Given the description of an element on the screen output the (x, y) to click on. 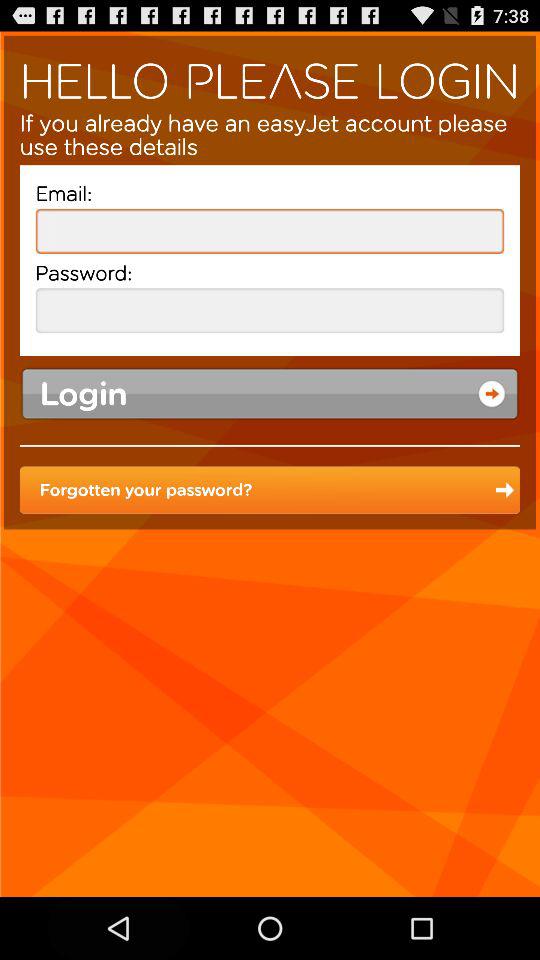
creat a new account password (269, 310)
